Given the description of an element on the screen output the (x, y) to click on. 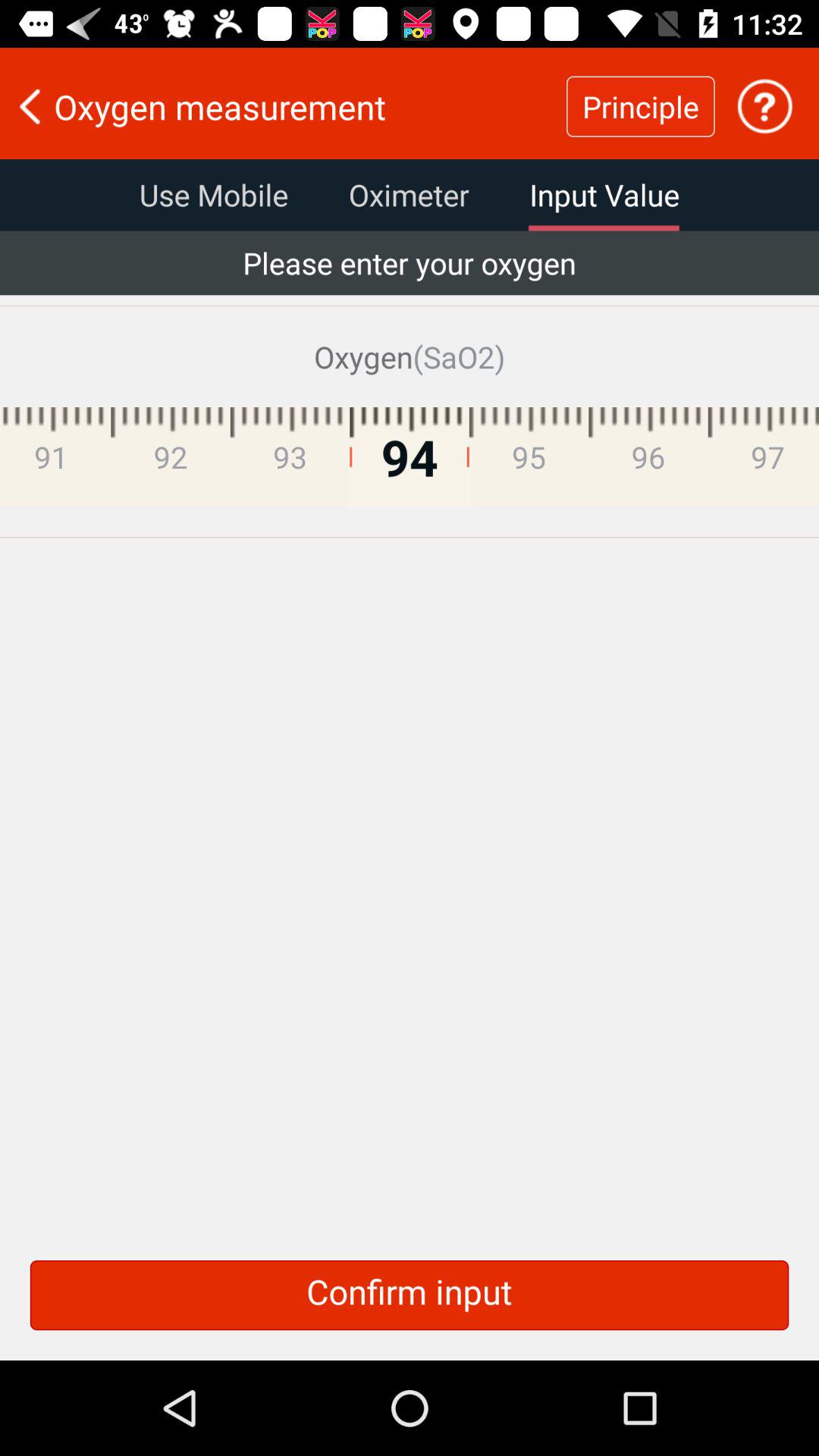
choose the item below oxygen measurement icon (604, 194)
